Given the description of an element on the screen output the (x, y) to click on. 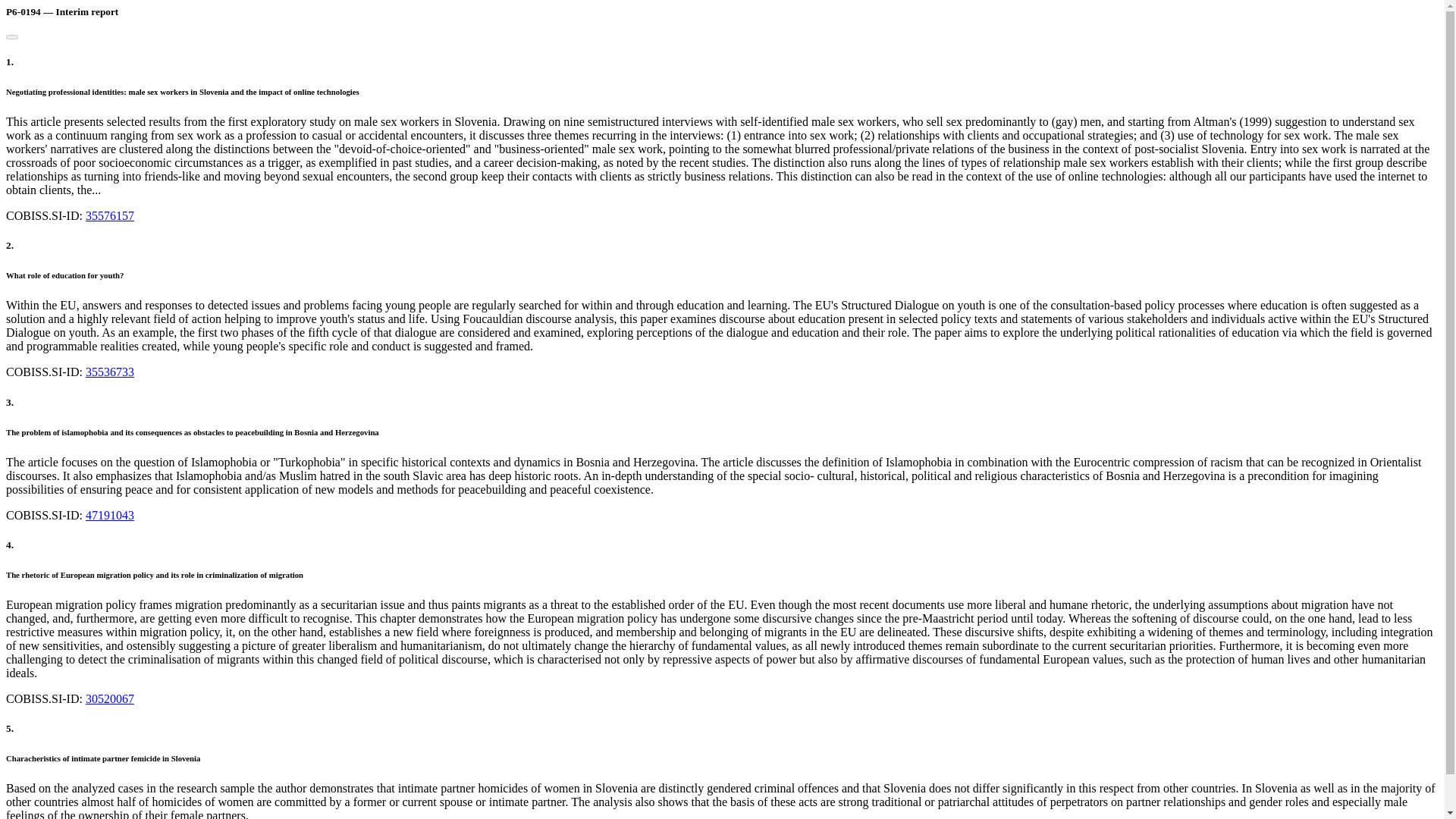
30520067 (109, 698)
35576157 (109, 215)
47191043 (109, 513)
35536733 (109, 371)
